Given the description of an element on the screen output the (x, y) to click on. 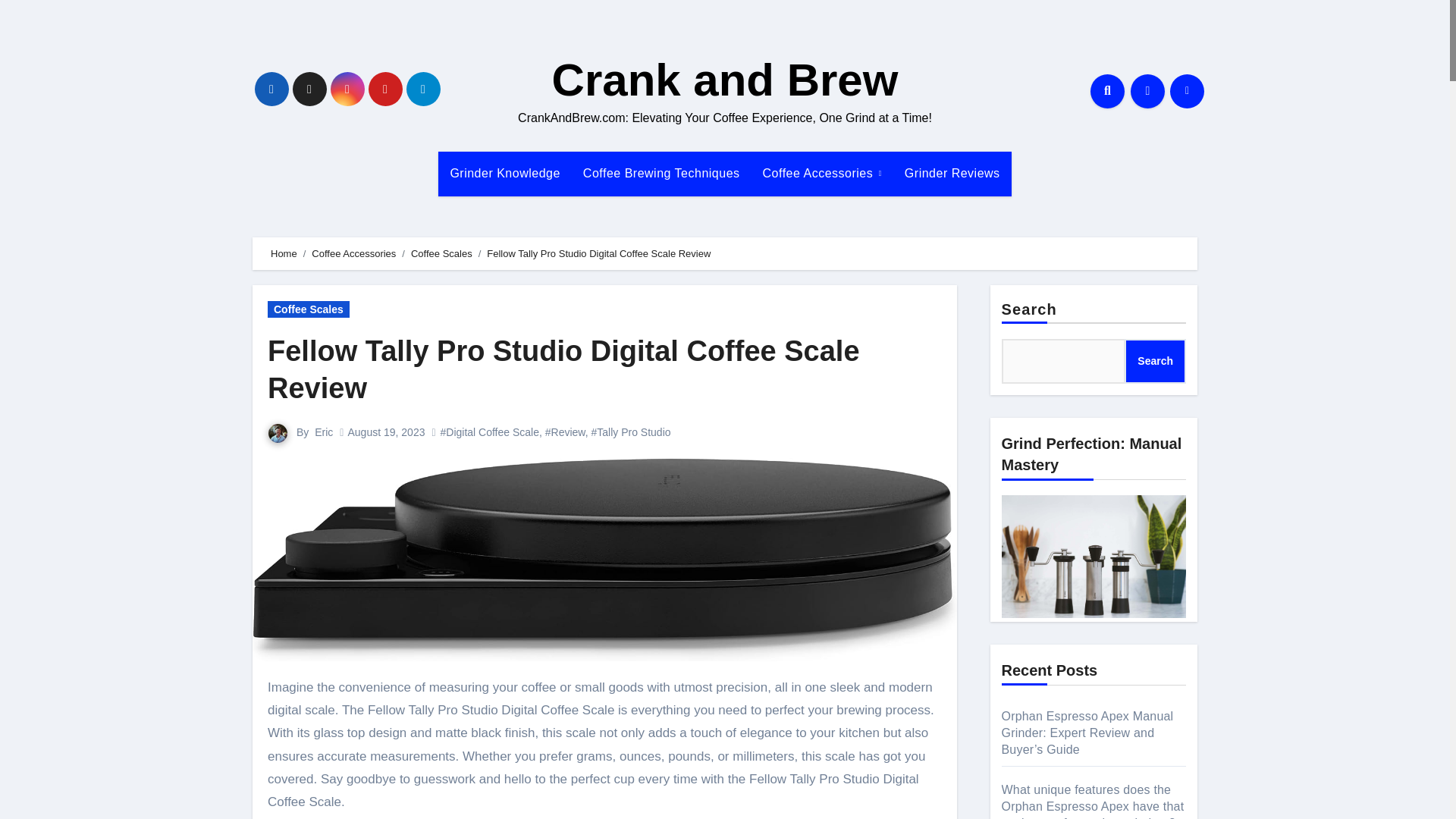
Grinder Reviews (952, 173)
Coffee Scales (440, 253)
August 19, 2023 (386, 431)
Coffee Scales (308, 309)
Fellow Tally Pro Studio Digital Coffee Scale Review (563, 369)
Grinder Knowledge (504, 173)
Crank and Brew (724, 79)
Coffee Brewing Techniques (661, 173)
Grinder Knowledge (504, 173)
Eric (323, 431)
Home (283, 253)
Coffee Accessories (822, 173)
Grinder Reviews (952, 173)
Coffee Brewing Techniques (661, 173)
